Given the description of an element on the screen output the (x, y) to click on. 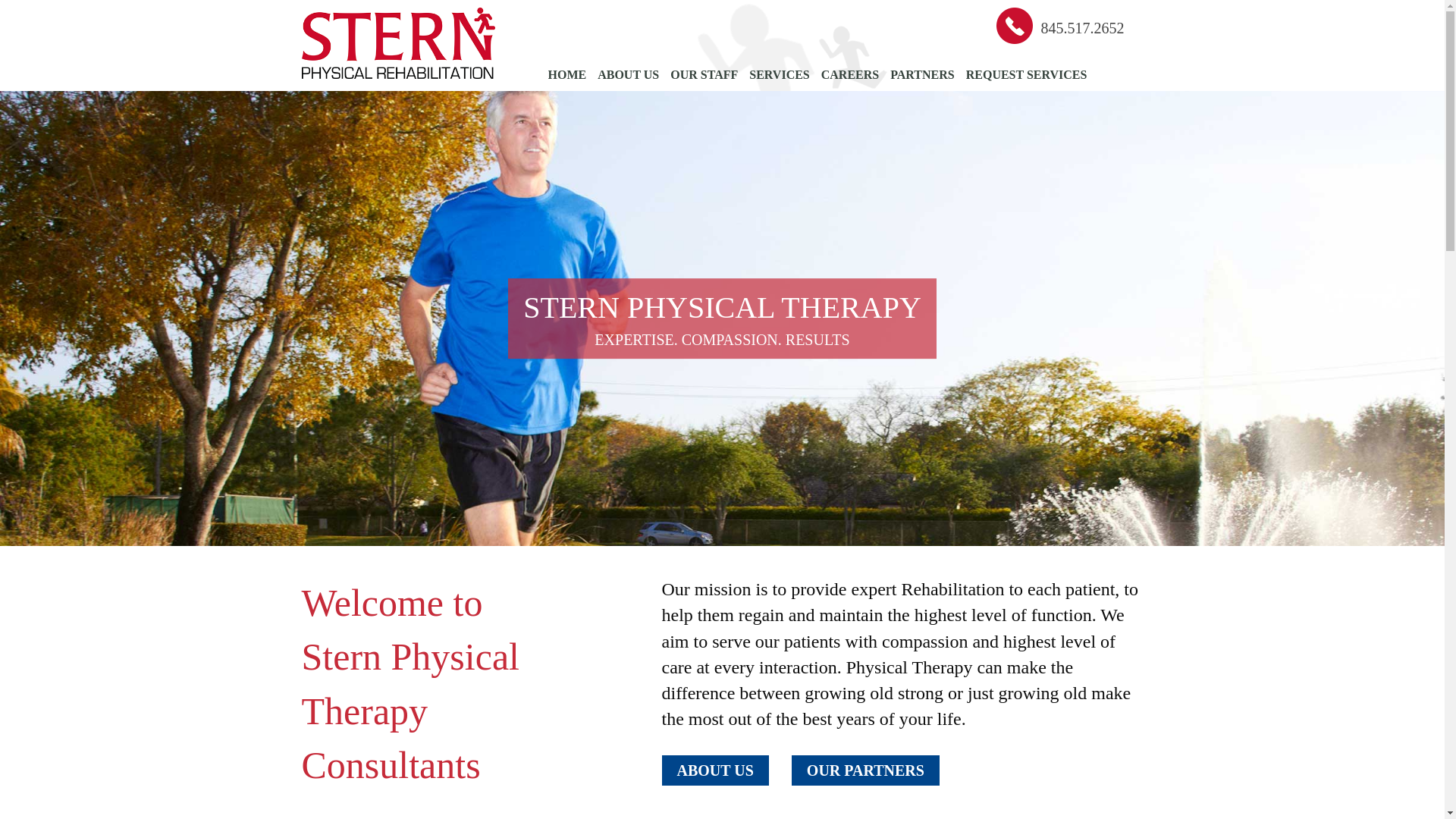
HOME (566, 78)
ABOUT US (714, 770)
PARTNERS (921, 74)
CAREERS (850, 74)
REQUEST SERVICES (1026, 74)
OUR STAFF (703, 74)
ABOUT US (714, 768)
OUR PARTNERS (865, 770)
ABOUT US (627, 74)
CONTACT (577, 118)
SERVICES (779, 74)
OUR PARTNERS (865, 768)
